Given the description of an element on the screen output the (x, y) to click on. 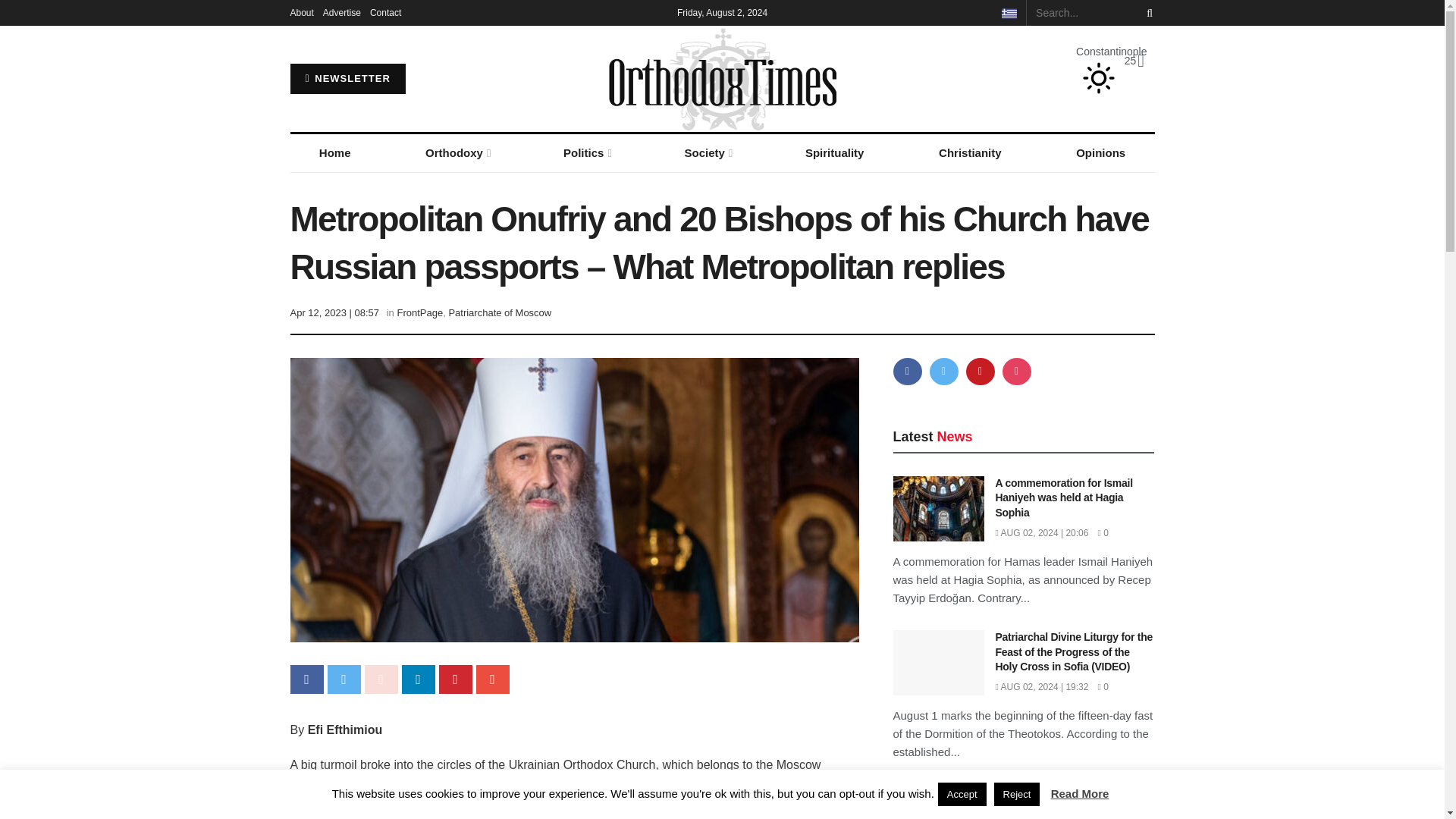
About (301, 12)
NEWSLETTER (346, 78)
Politics (586, 152)
Orthodoxy (457, 152)
Advertise (342, 12)
Home (333, 152)
Society (706, 152)
Contact (385, 12)
Spirituality (834, 152)
